Given the description of an element on the screen output the (x, y) to click on. 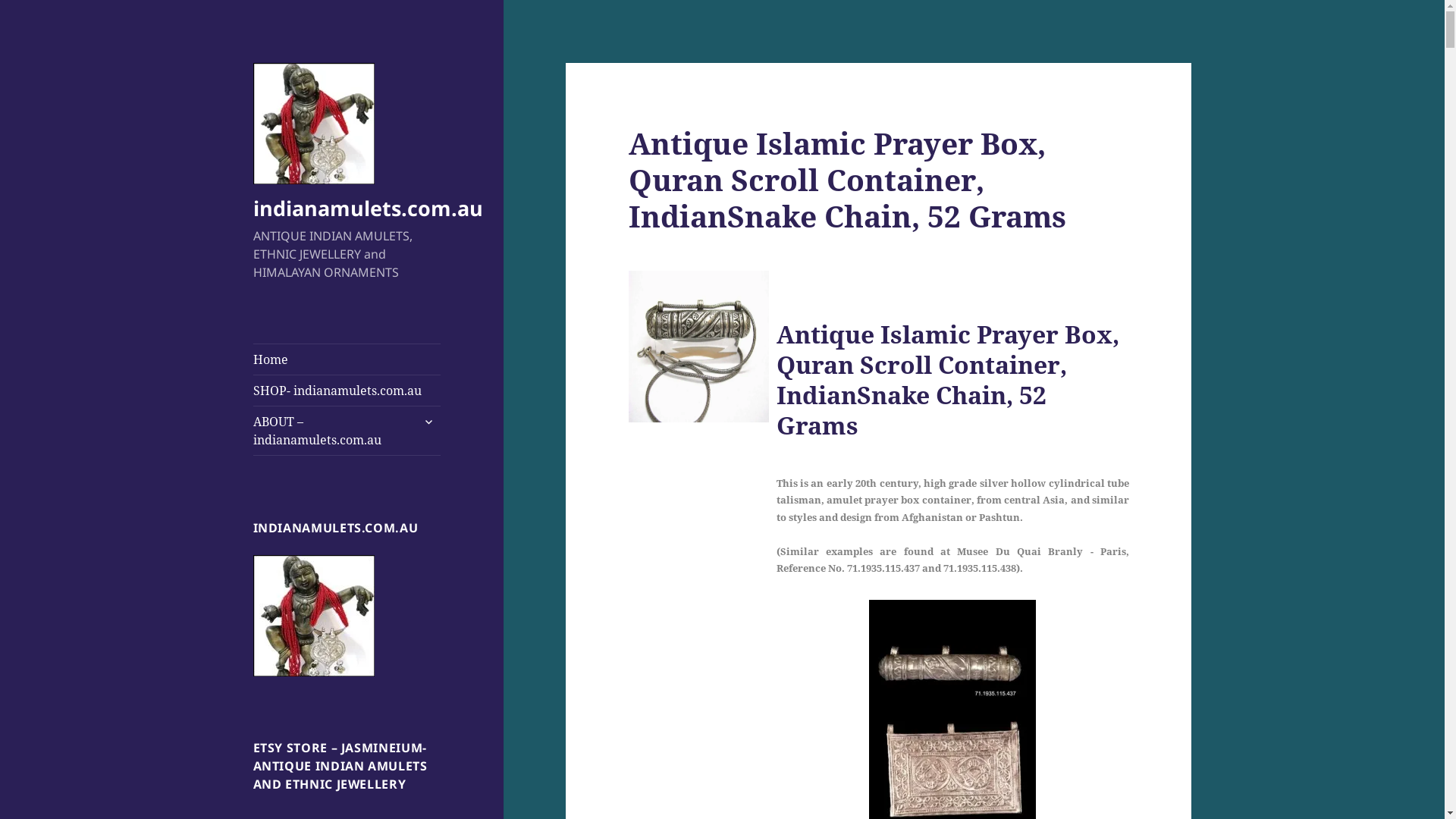
indianamulets.com.au Element type: hover (313, 615)
indianamulets.com.au Element type: text (368, 208)
SHOP- indianamulets.com.au Element type: text (347, 390)
expand child menu Element type: text (428, 421)
Home Element type: text (347, 359)
